Given the description of an element on the screen output the (x, y) to click on. 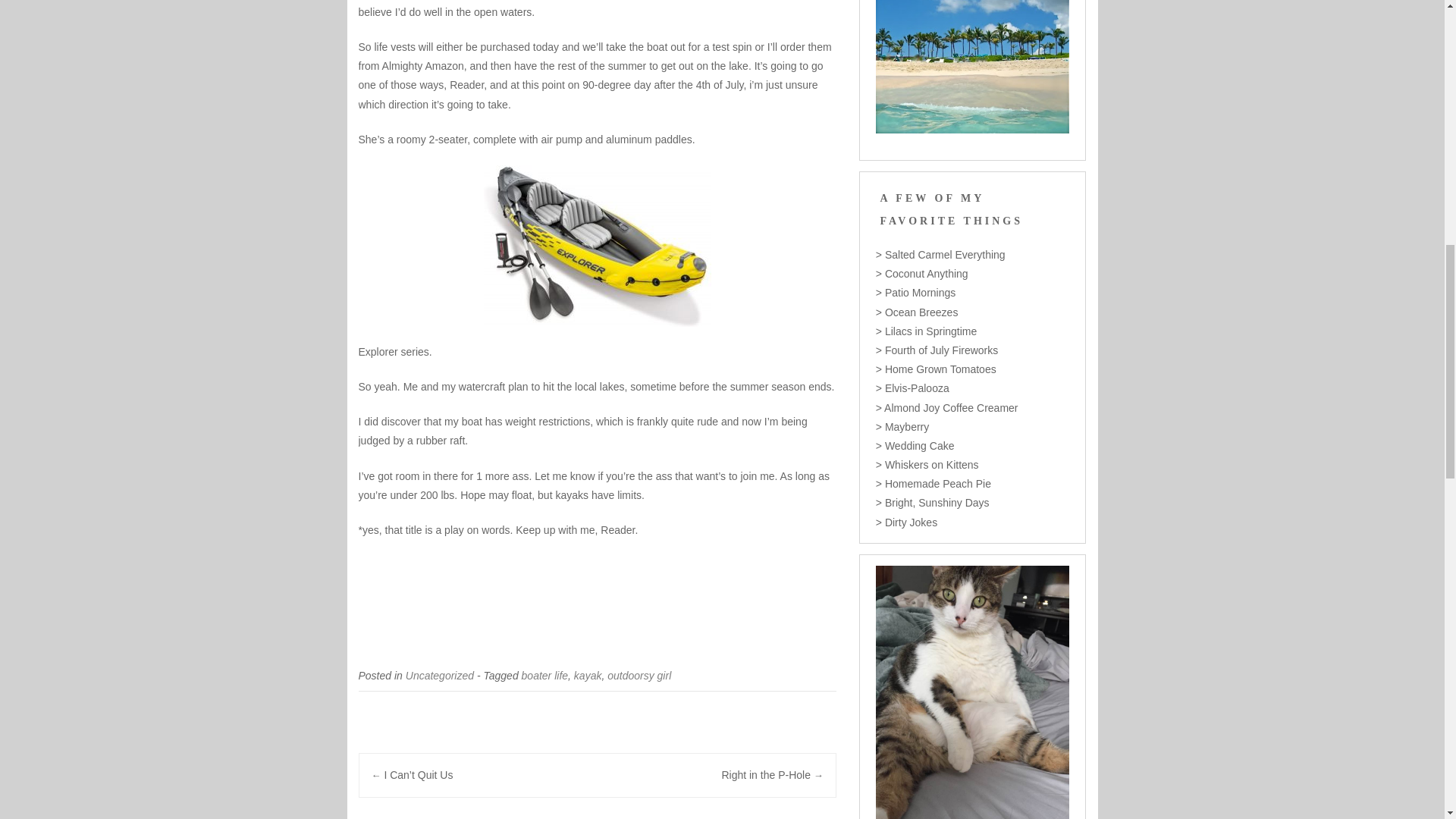
Uncategorized (440, 675)
outdoorsy girl (639, 675)
kayak (587, 675)
boater life (544, 675)
